Given the description of an element on the screen output the (x, y) to click on. 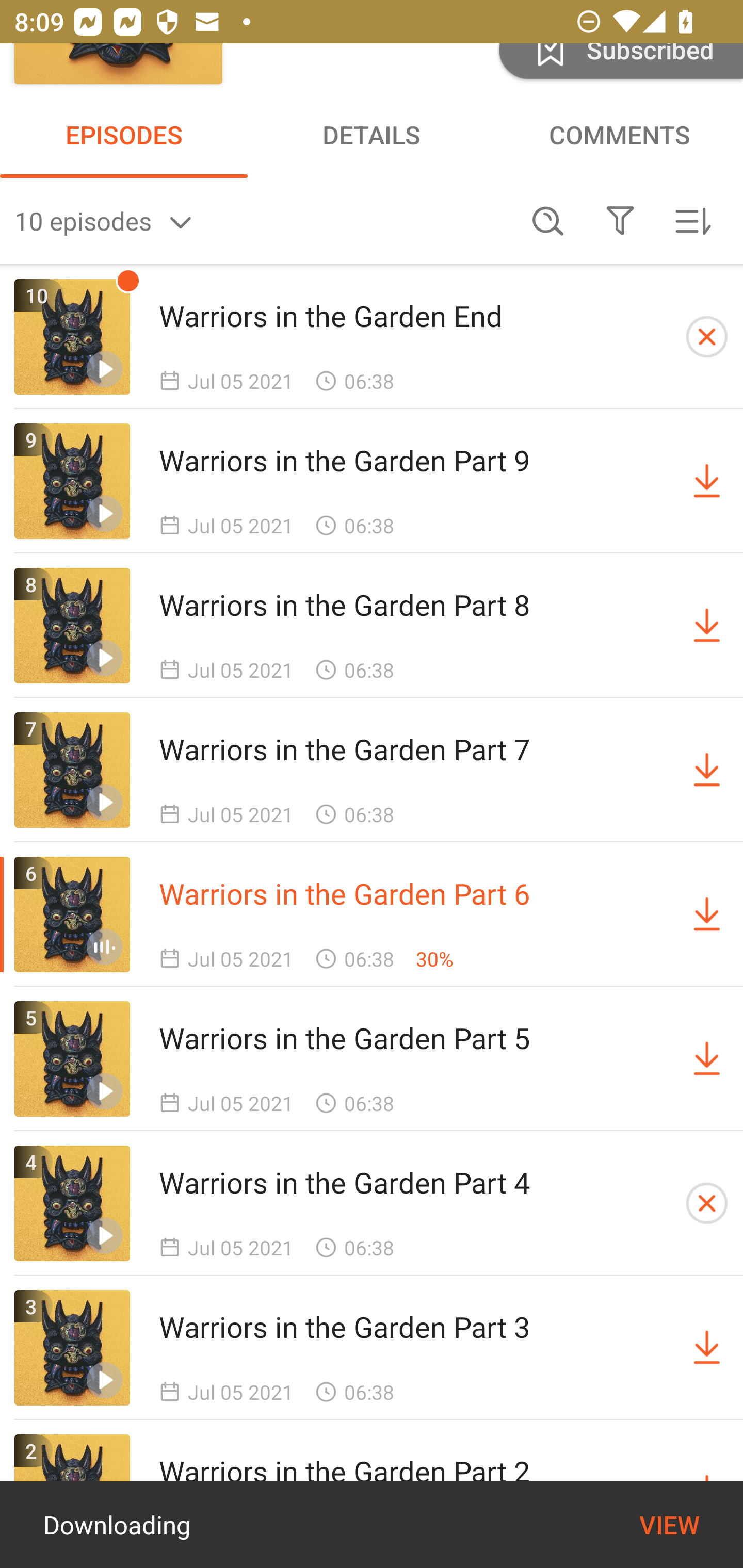
EPISODES (123, 133)
DETAILS (371, 133)
COMMENTS (619, 133)
10 episodes  (262, 220)
 Search (547, 221)
 (619, 221)
 Sorted by newest first (692, 221)
Cancel Downloading (706, 337)
Download (706, 481)
Download (706, 625)
Download (706, 769)
Download (706, 914)
Download (706, 1058)
Cancel Downloading (706, 1203)
Download (706, 1347)
Downloading VIEW (371, 1524)
VIEW (669, 1524)
